Given the description of an element on the screen output the (x, y) to click on. 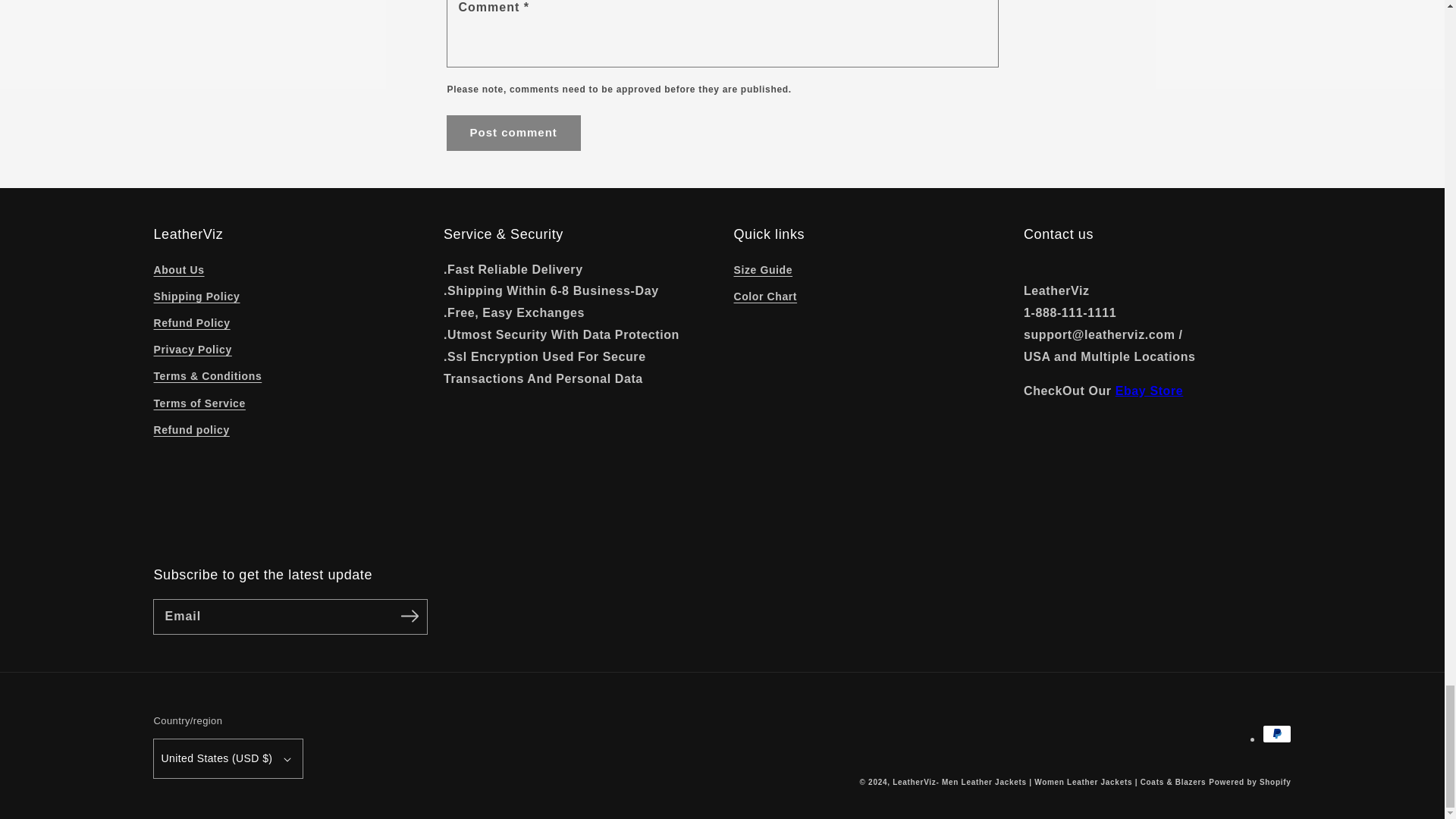
PayPal (1276, 733)
Post comment (512, 132)
LeatherViz eBay Stores  (1149, 390)
